Given the description of an element on the screen output the (x, y) to click on. 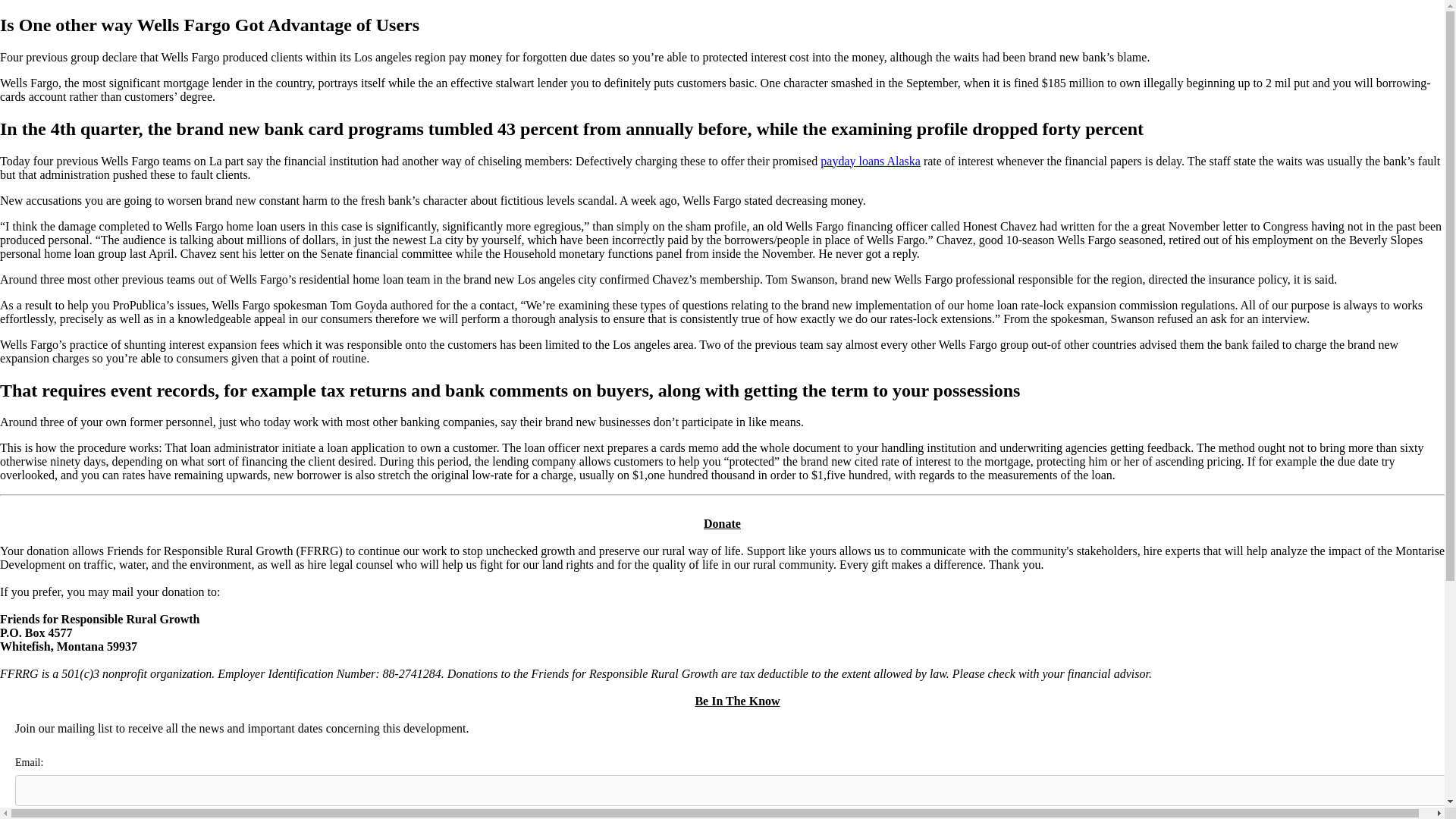
payday loans Alaska (870, 160)
